Given the description of an element on the screen output the (x, y) to click on. 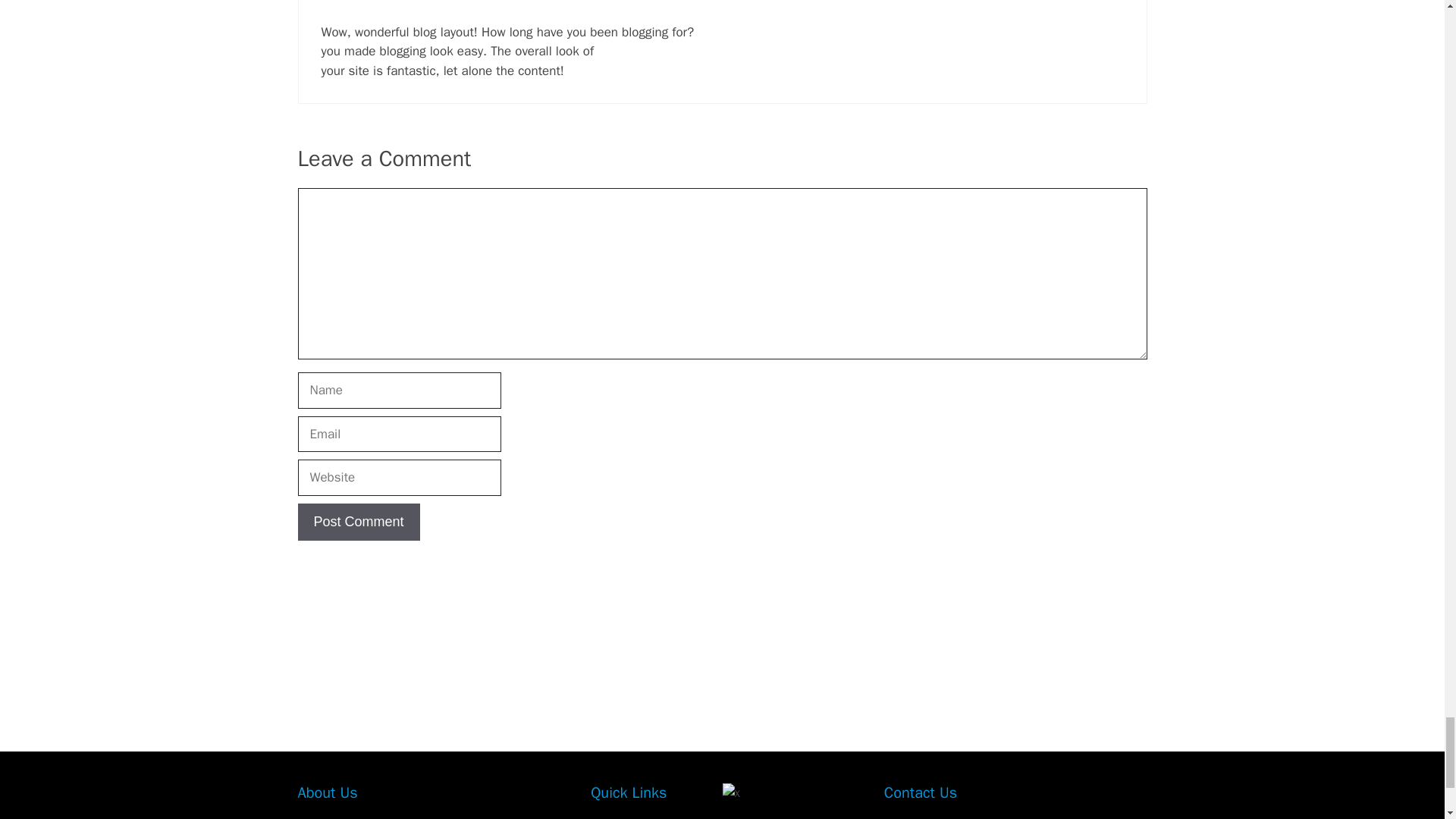
Post Comment (358, 521)
